Given the description of an element on the screen output the (x, y) to click on. 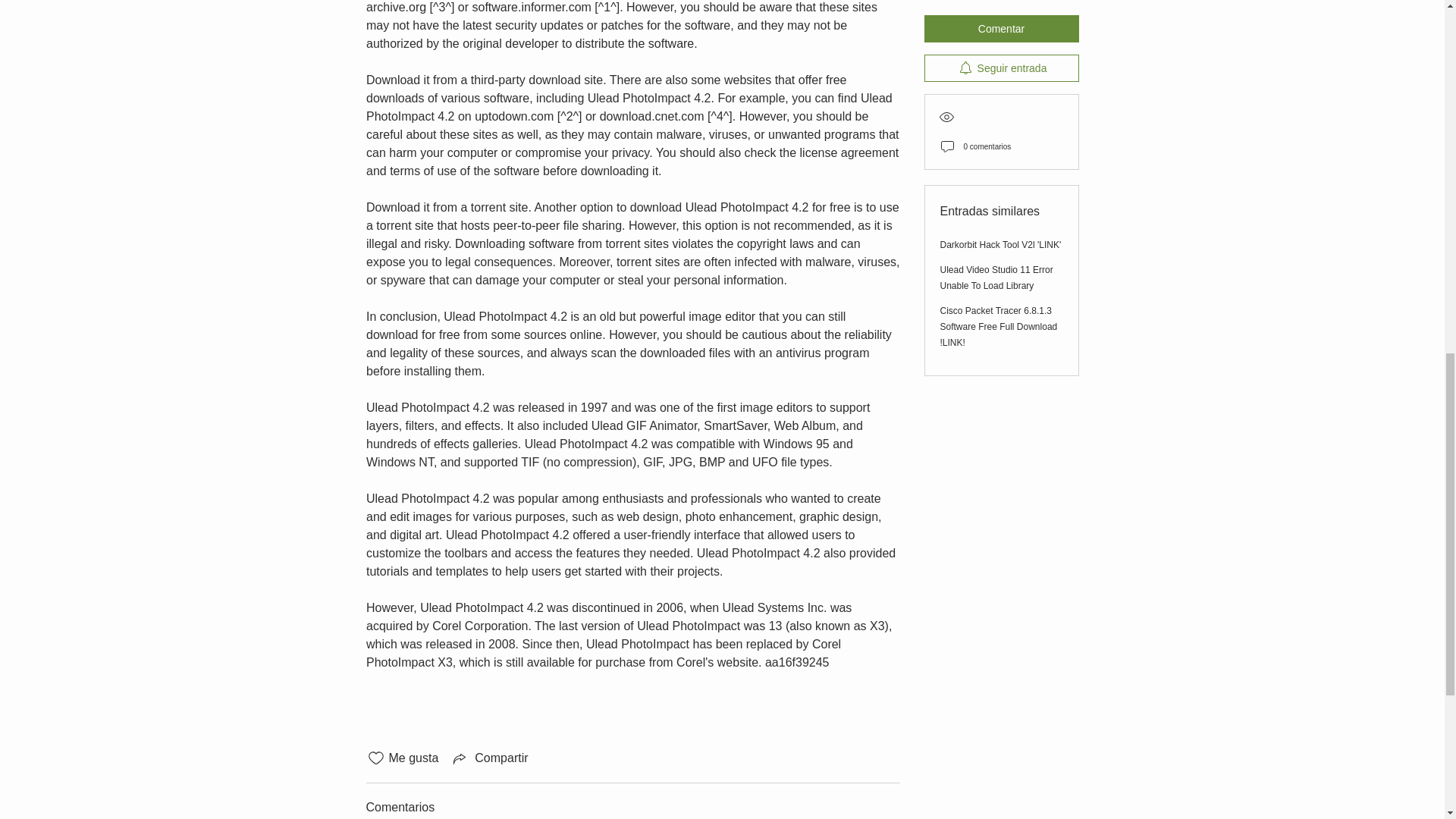
Compartir (488, 758)
